Given the description of an element on the screen output the (x, y) to click on. 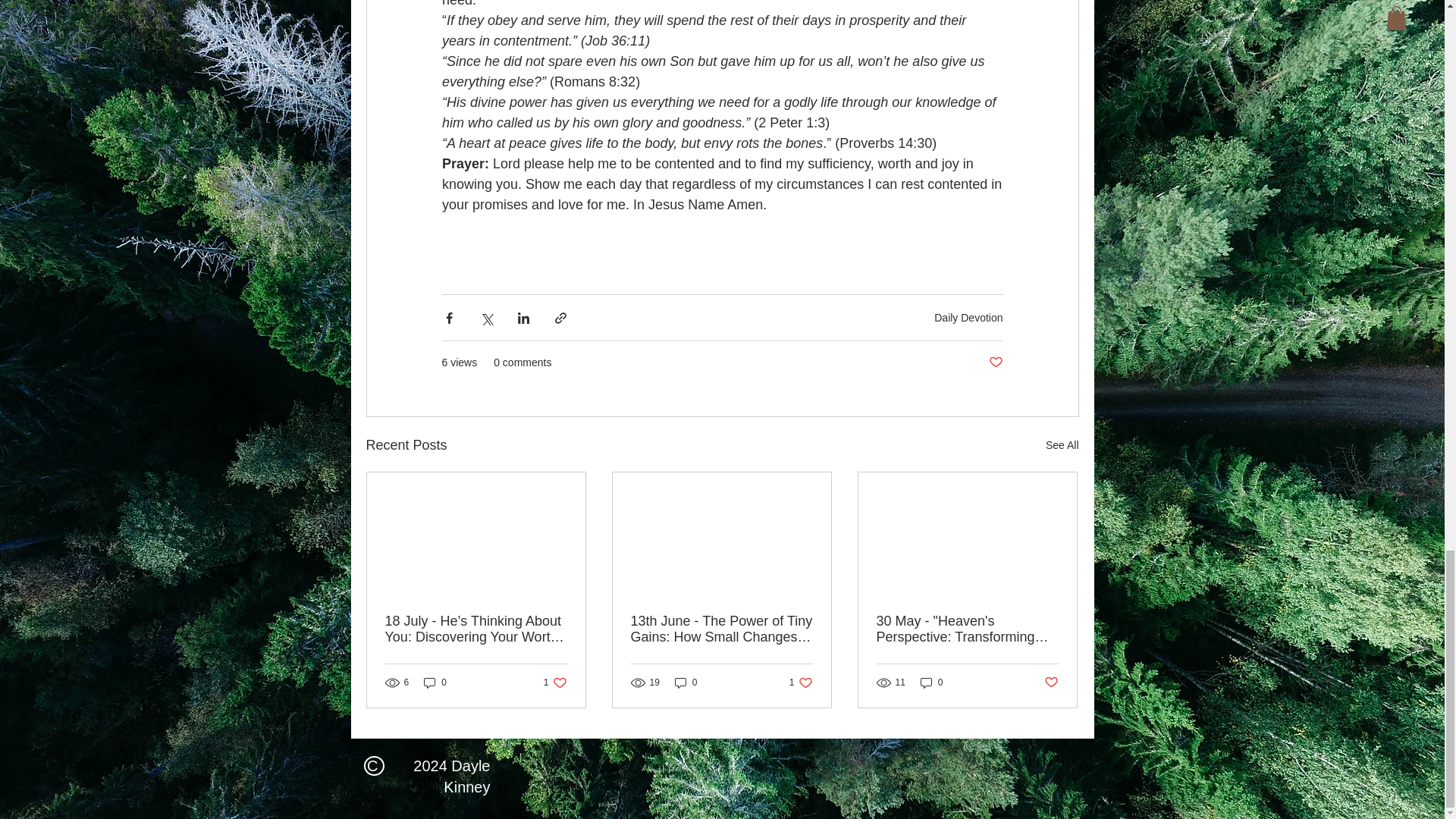
0 (555, 682)
Daily Devotion (435, 682)
See All (968, 317)
Post not marked as liked (1061, 445)
